Given the description of an element on the screen output the (x, y) to click on. 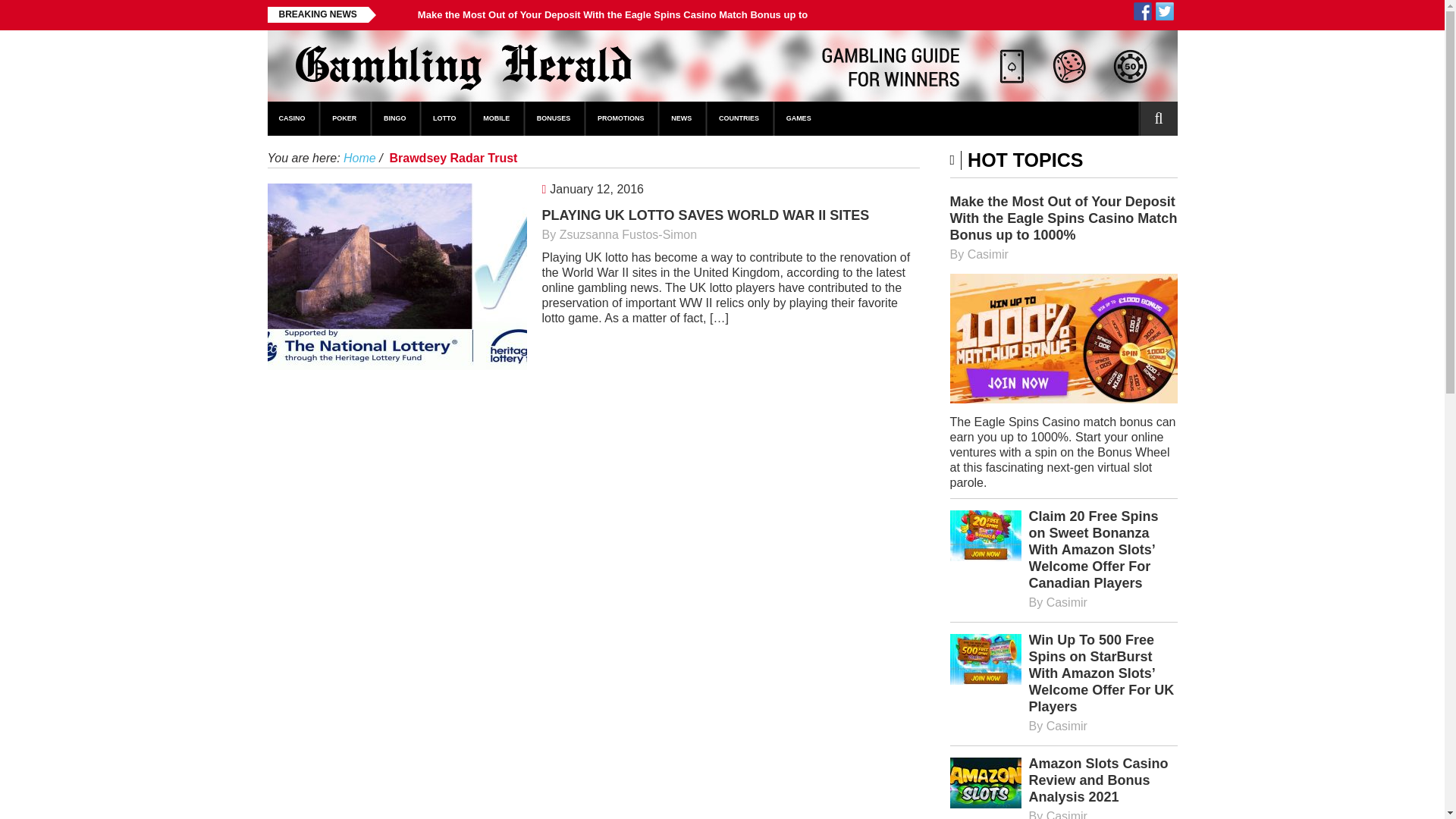
BONUSES (554, 118)
Posts by Casimir (1066, 725)
Posts by Casimir (1066, 814)
Follow us on Facebook (1141, 11)
Posts by Zsuzsanna Fustos-Simon (628, 234)
Follow us on Twitter (1164, 11)
Posts by Casimir (988, 254)
Posts by Casimir (1066, 602)
